Given the description of an element on the screen output the (x, y) to click on. 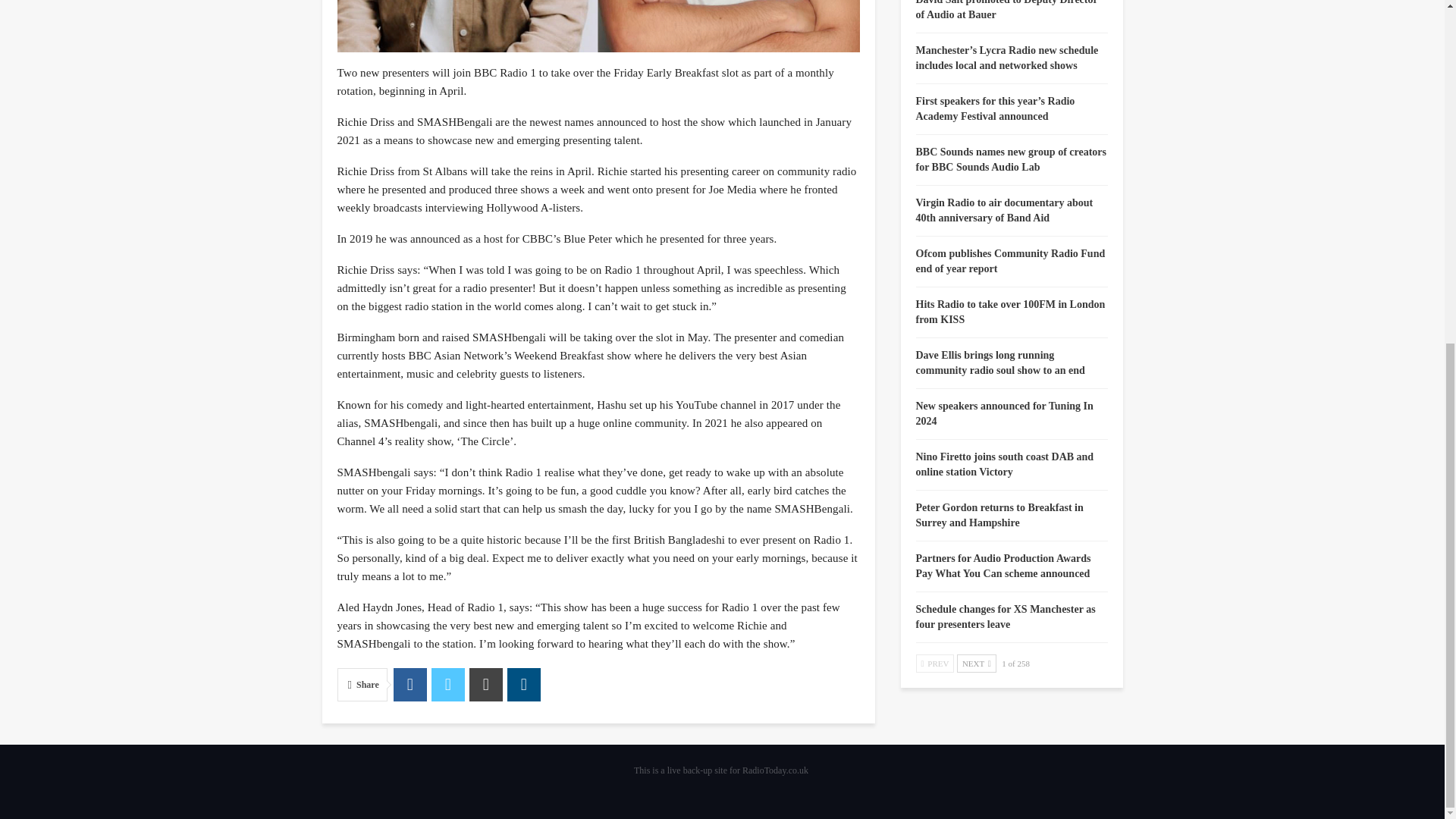
Previous (935, 663)
Next (975, 663)
PREV (935, 663)
David Salt promoted to Deputy Director of Audio at Bauer (1006, 10)
Schedule changes for XS Manchester as four presenters leave (1005, 616)
Ofcom publishes Community Radio Fund end of year report (1010, 261)
New speakers announced for Tuning In 2024 (1004, 413)
Peter Gordon returns to Breakfast in Surrey and Hampshire (999, 515)
